Given the description of an element on the screen output the (x, y) to click on. 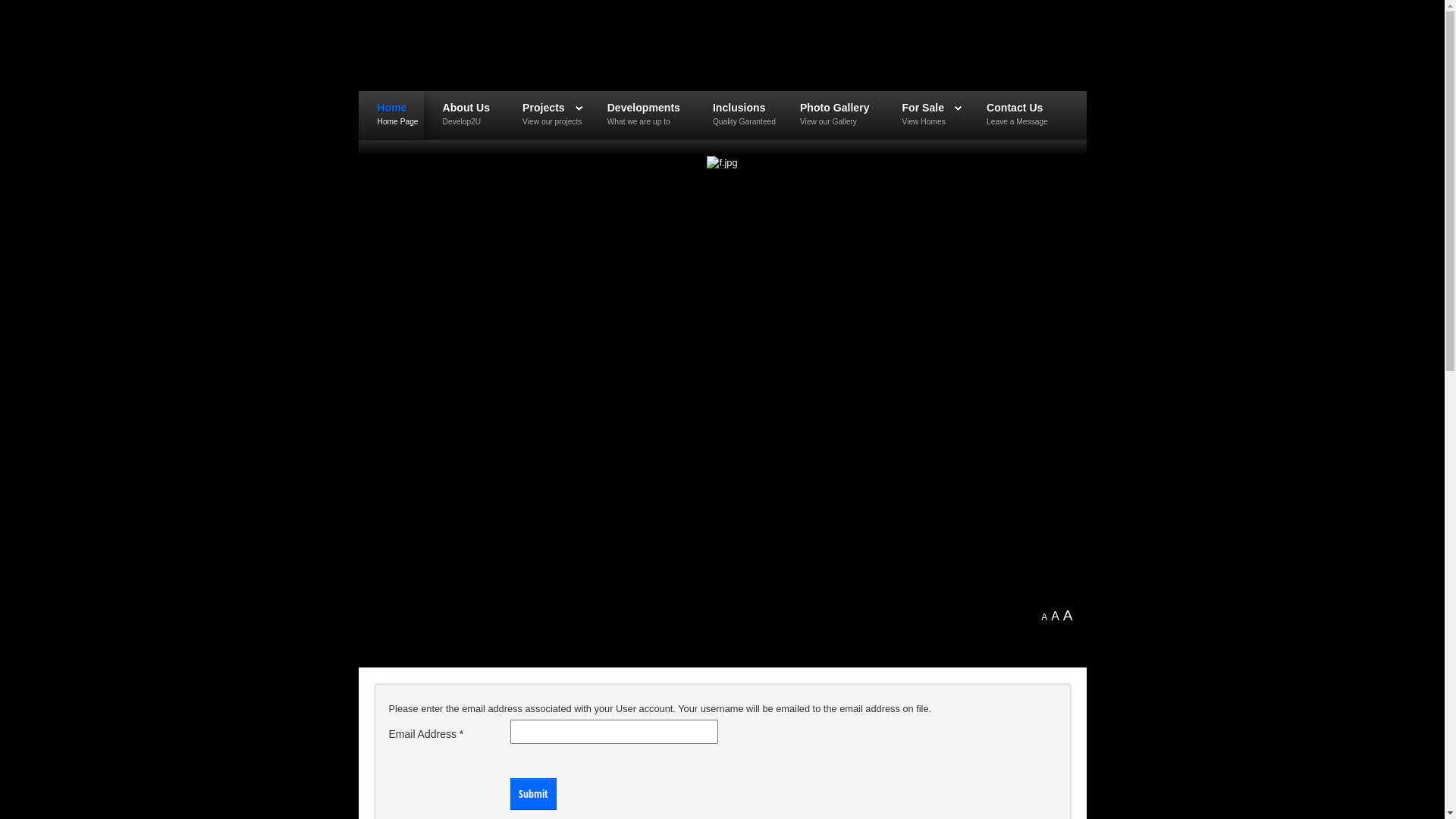
Leave a Message Element type: text (1010, 121)
A Element type: text (1068, 615)
Quality Garanteed Element type: text (735, 121)
View our projects Element type: text (544, 121)
About Us Element type: text (466, 107)
Home Element type: text (392, 107)
Develop2U Element type: text (462, 121)
Home Page Element type: text (388, 121)
Contact Us Element type: text (1014, 107)
Developments Element type: text (639, 108)
Inclusions Element type: text (735, 108)
A Element type: text (1044, 616)
For Sale Element type: text (923, 108)
Inclusions Element type: text (738, 107)
Projects Element type: text (544, 108)
Photo Gallery Element type: text (834, 107)
View Homes Element type: text (923, 121)
Photo Gallery Element type: text (831, 108)
For Sale Element type: text (923, 107)
A Element type: text (1055, 615)
Home Element type: text (388, 108)
What we are up to Element type: text (639, 121)
Projects Element type: text (543, 107)
View our Gallery Element type: text (831, 121)
Submit Element type: text (532, 793)
Contact Us Element type: text (1010, 108)
Developments Element type: text (643, 107)
About Us Element type: text (462, 108)
